Given the description of an element on the screen output the (x, y) to click on. 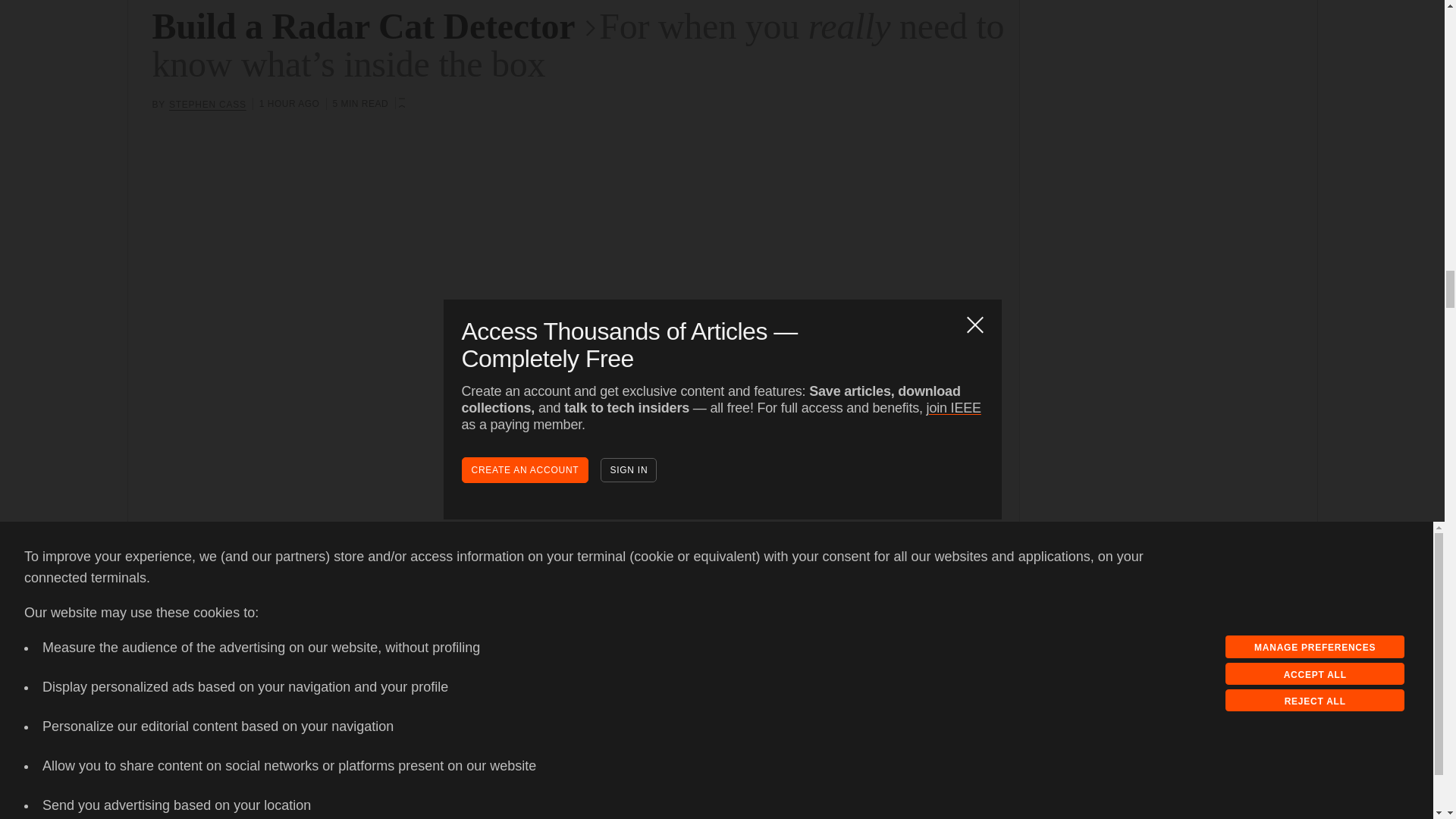
Copy this link to clipboard (192, 673)
